Given the description of an element on the screen output the (x, y) to click on. 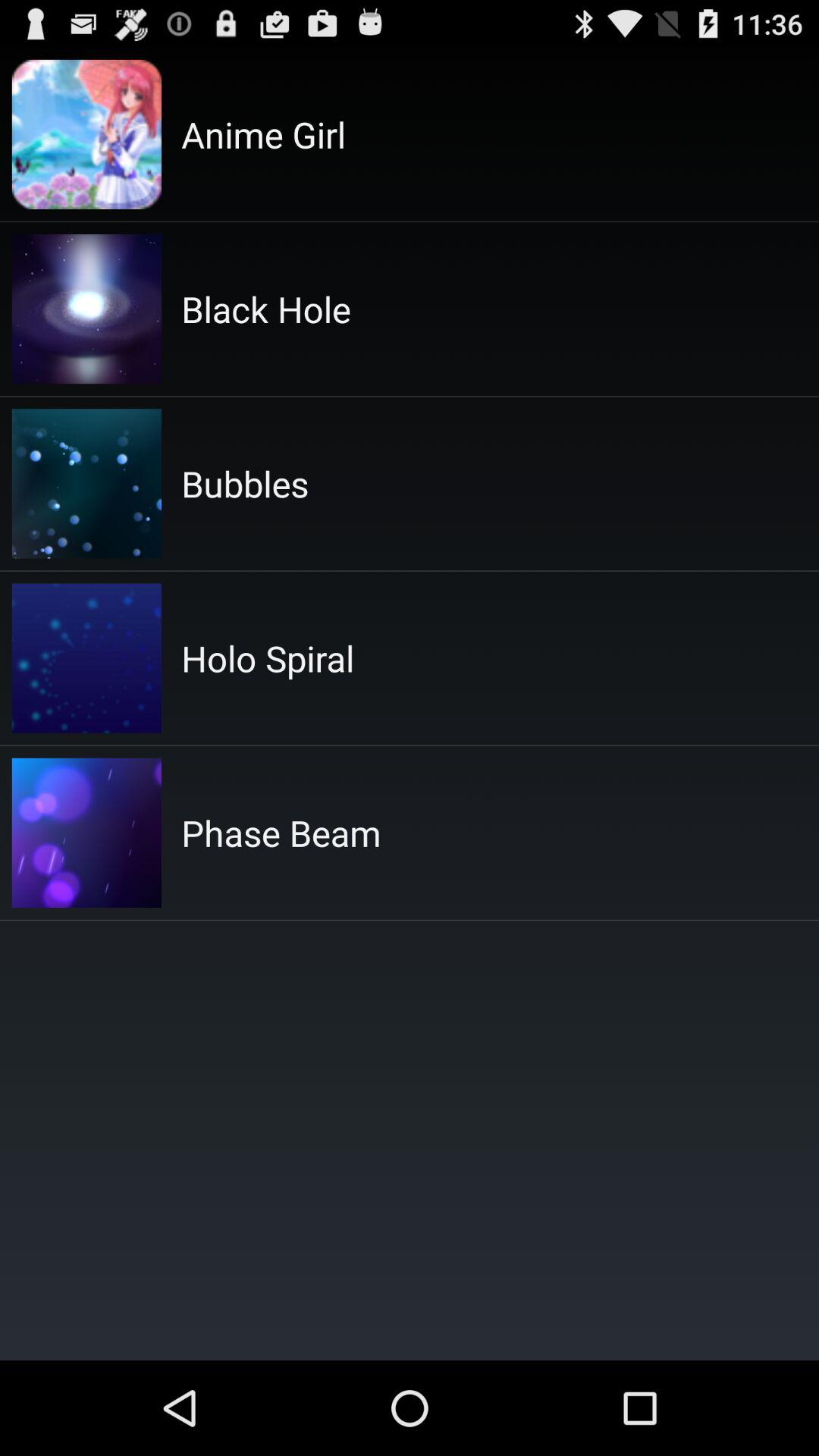
click app above the holo spiral app (244, 483)
